Given the description of an element on the screen output the (x, y) to click on. 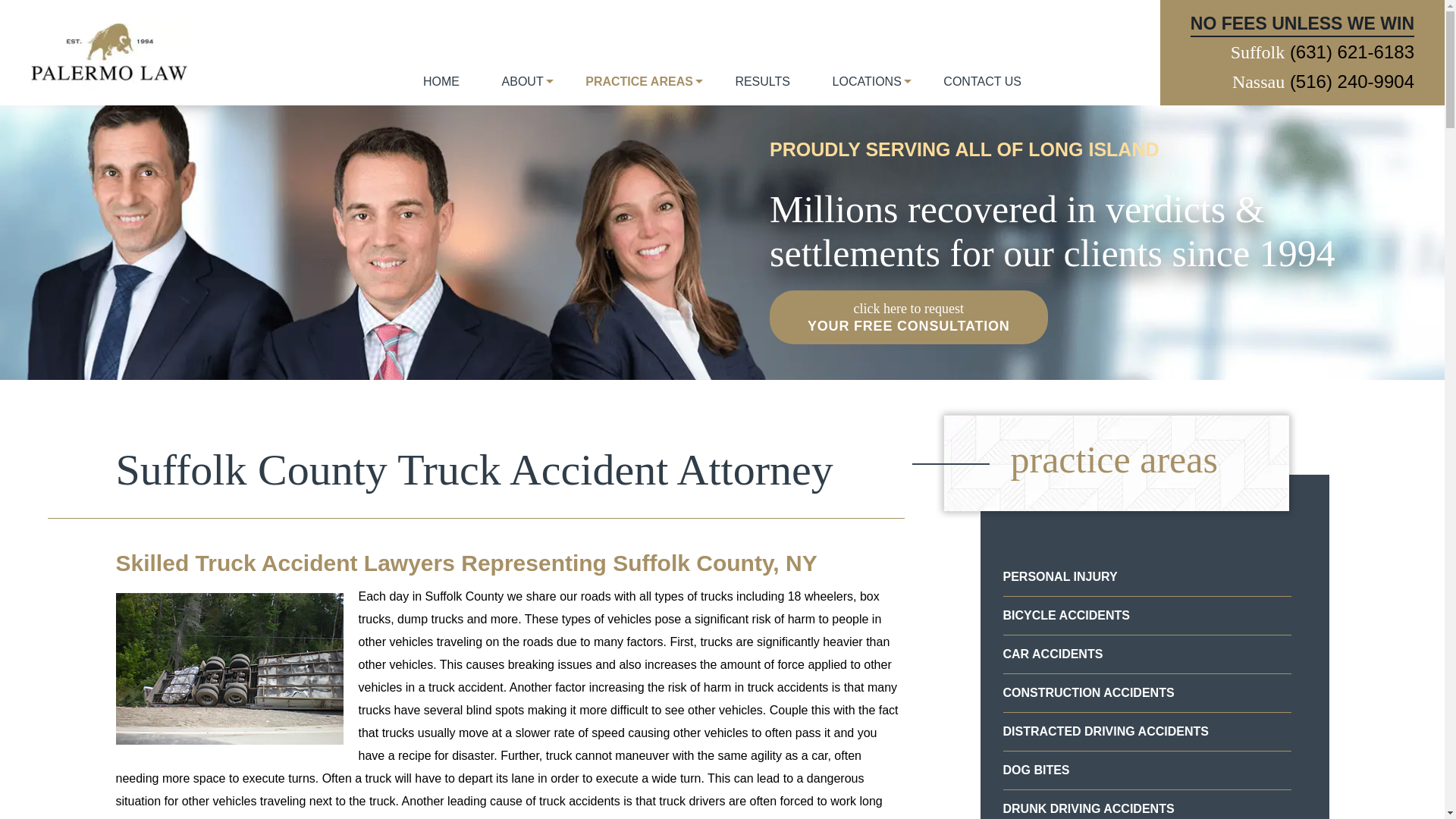
ABOUT (522, 91)
LOCATIONS (866, 91)
HOME (441, 91)
PRACTICE AREAS (639, 91)
RESULTS (762, 91)
